Given the description of an element on the screen output the (x, y) to click on. 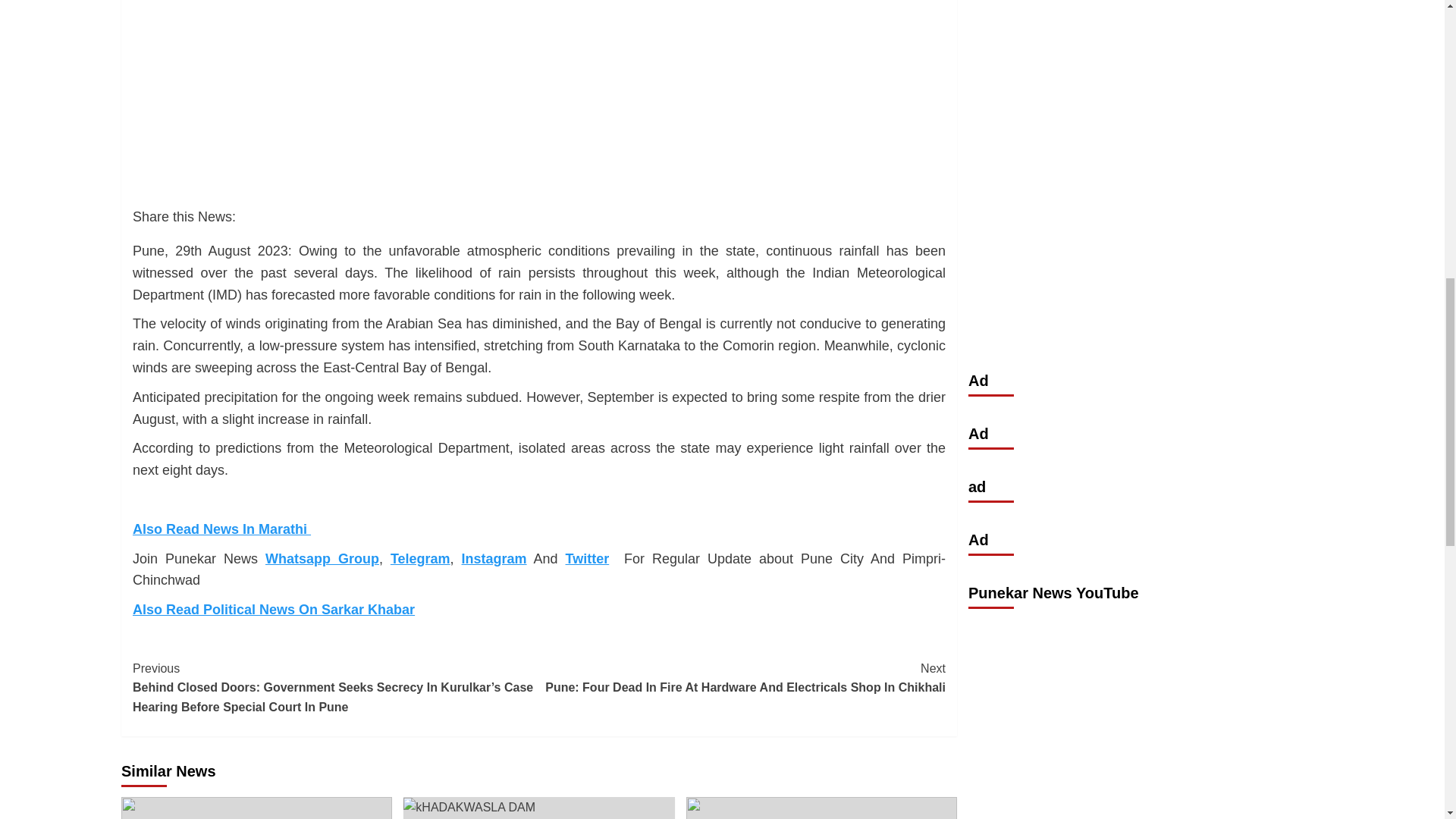
Also Read News In Marathi  (221, 529)
